Given the description of an element on the screen output the (x, y) to click on. 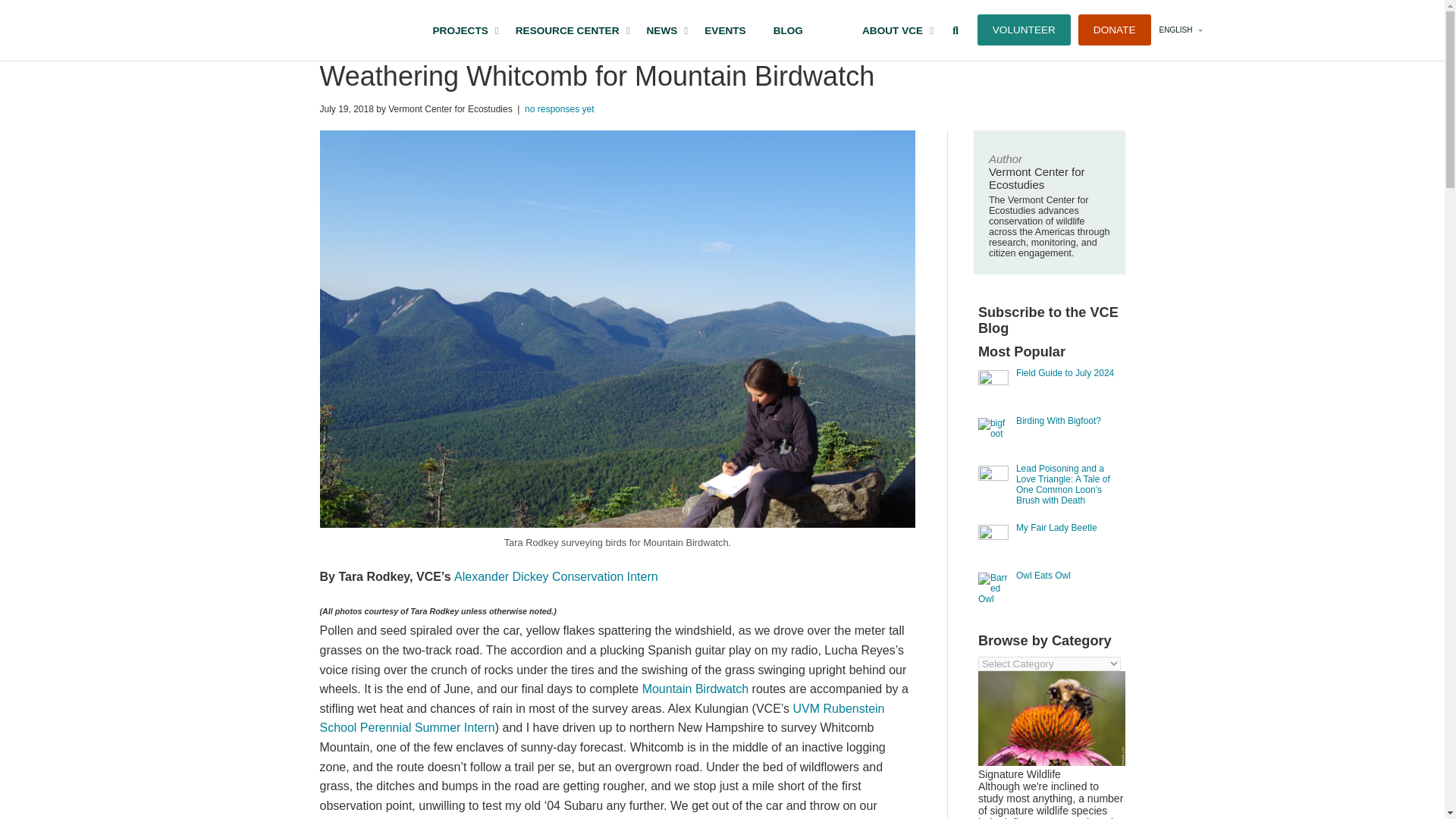
PROJECTS (459, 30)
RESOURCE CENTER (721, 30)
NEWS (567, 30)
